Given the description of an element on the screen output the (x, y) to click on. 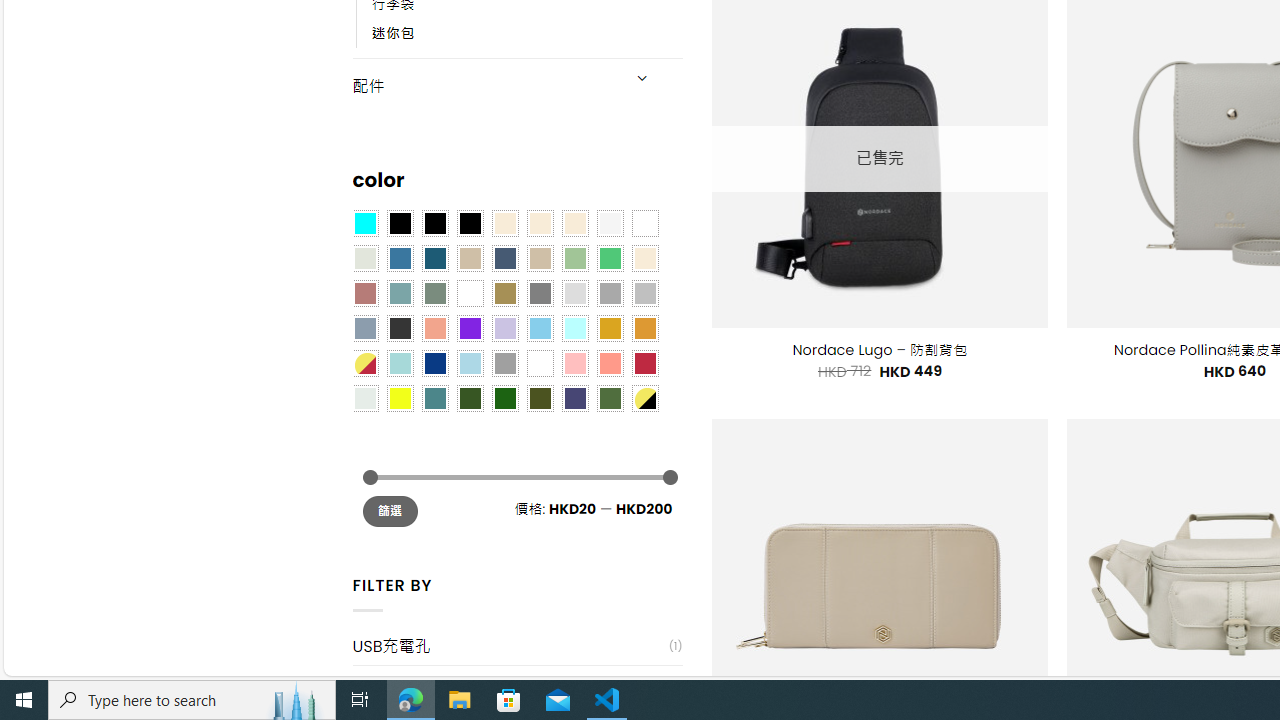
Cream (574, 223)
Dull Nickle (364, 398)
